Given the description of an element on the screen output the (x, y) to click on. 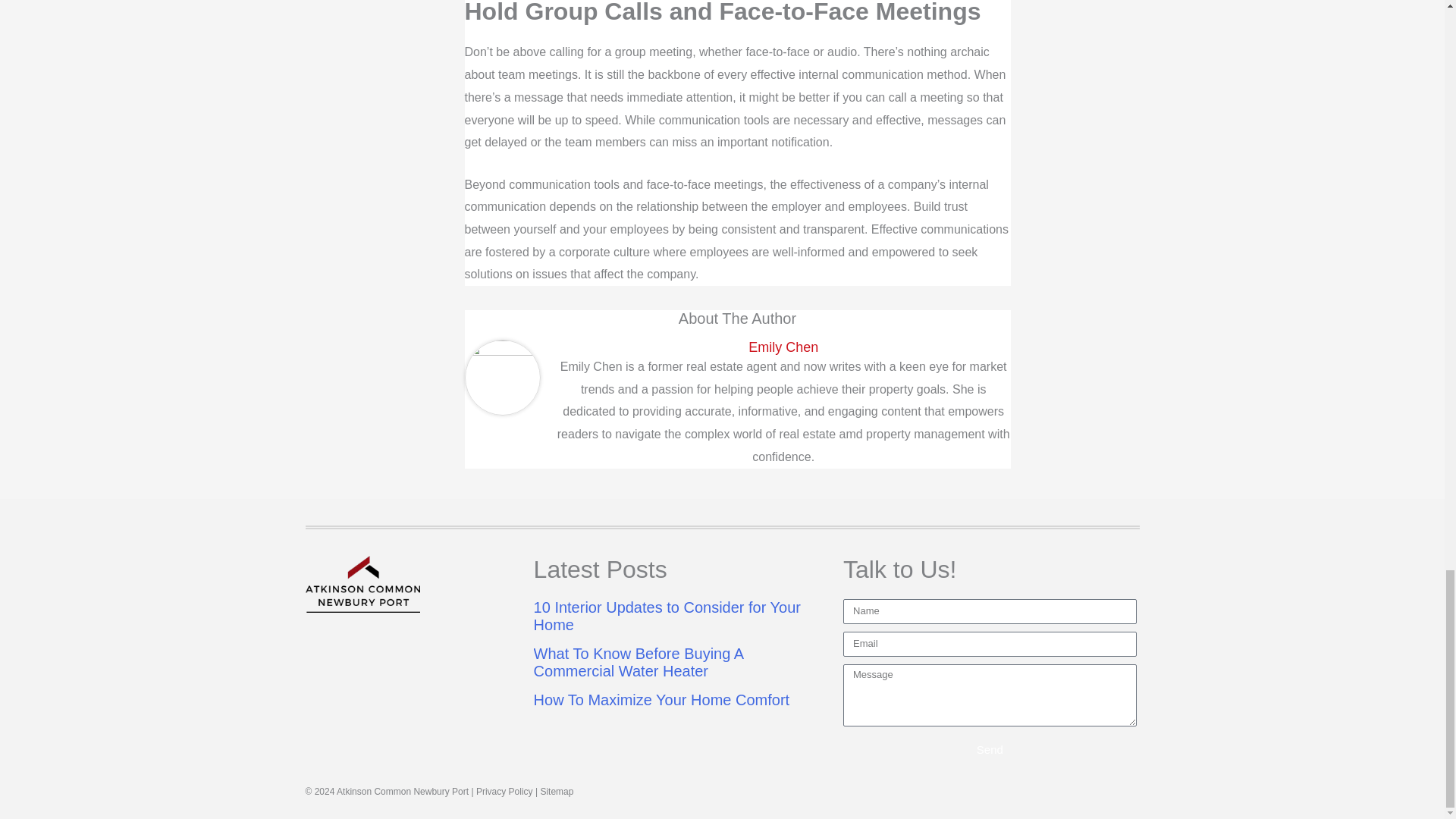
Send (990, 748)
Sitemap (556, 791)
10 Interior Updates to Consider for Your Home (667, 615)
Privacy Policy (504, 791)
How To Maximize Your Home Comfort (662, 699)
Emily Chen (783, 347)
What To Know Before Buying A Commercial Water Heater (638, 662)
